Given the description of an element on the screen output the (x, y) to click on. 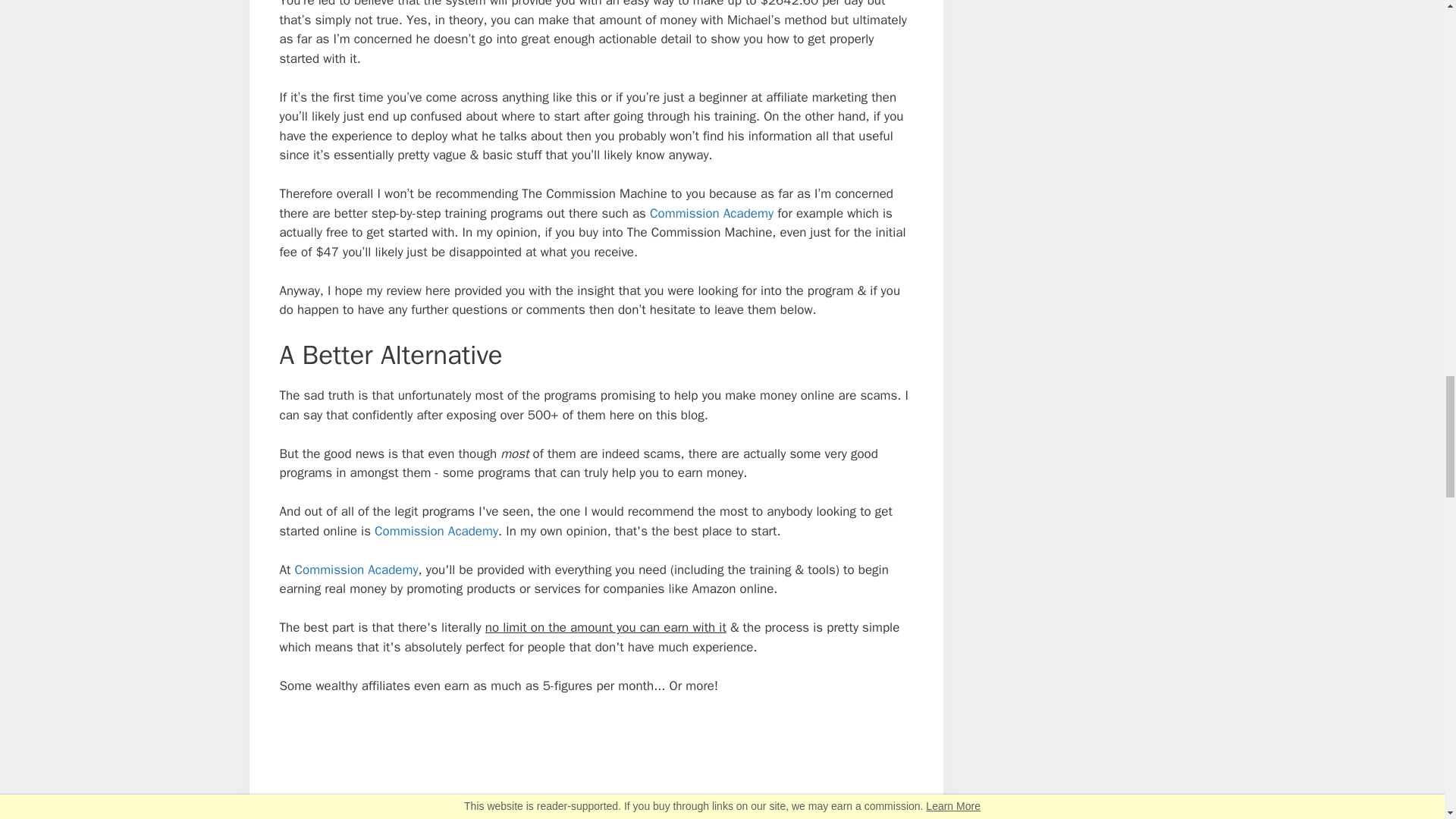
Commission Academy (711, 213)
Commission Academy (435, 530)
Commission Academy (357, 569)
